Given the description of an element on the screen output the (x, y) to click on. 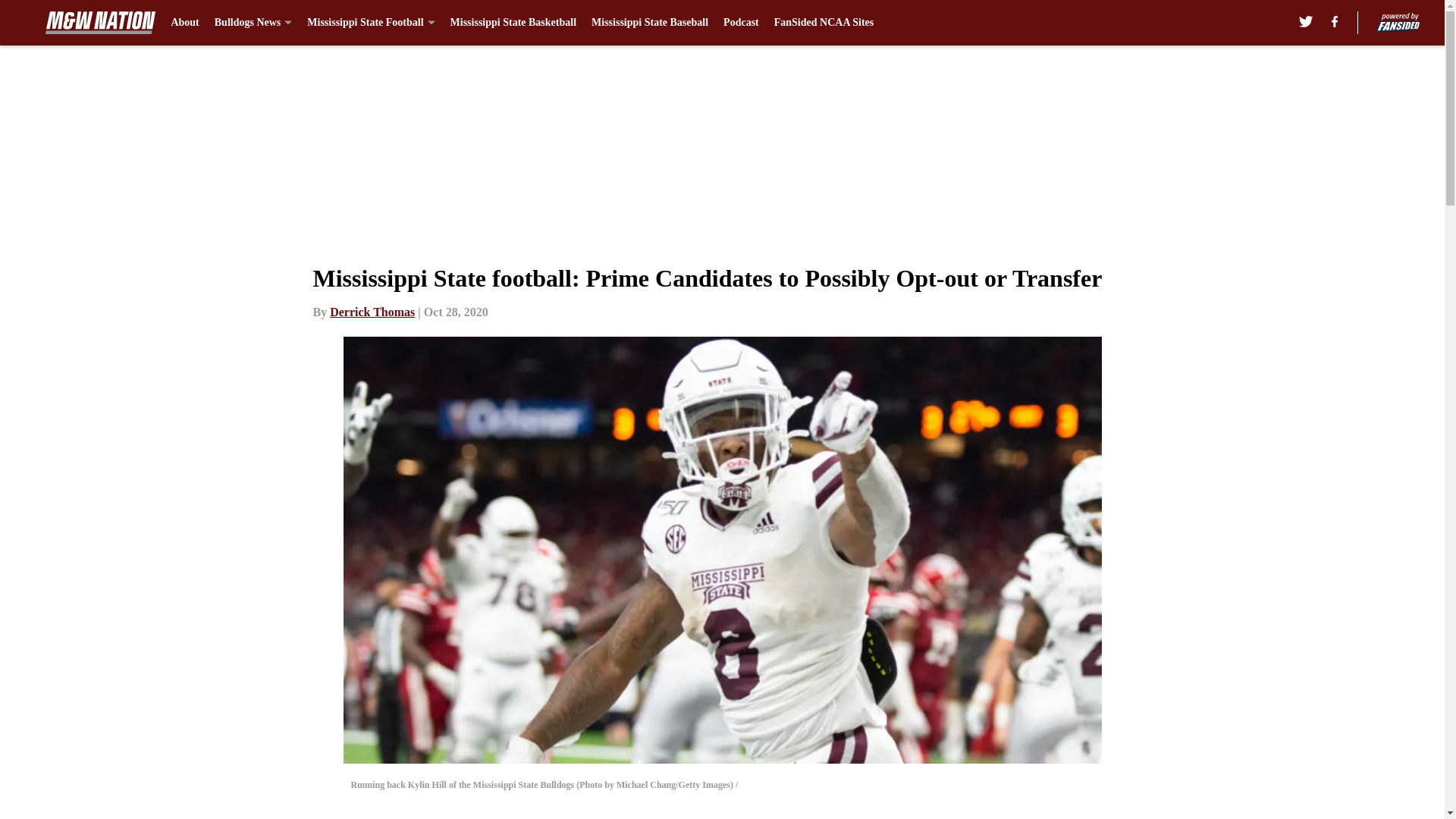
About (184, 22)
Mississippi State Basketball (512, 22)
FanSided NCAA Sites (823, 22)
Mississippi State Baseball (649, 22)
Podcast (740, 22)
Derrick Thomas (372, 311)
